Given the description of an element on the screen output the (x, y) to click on. 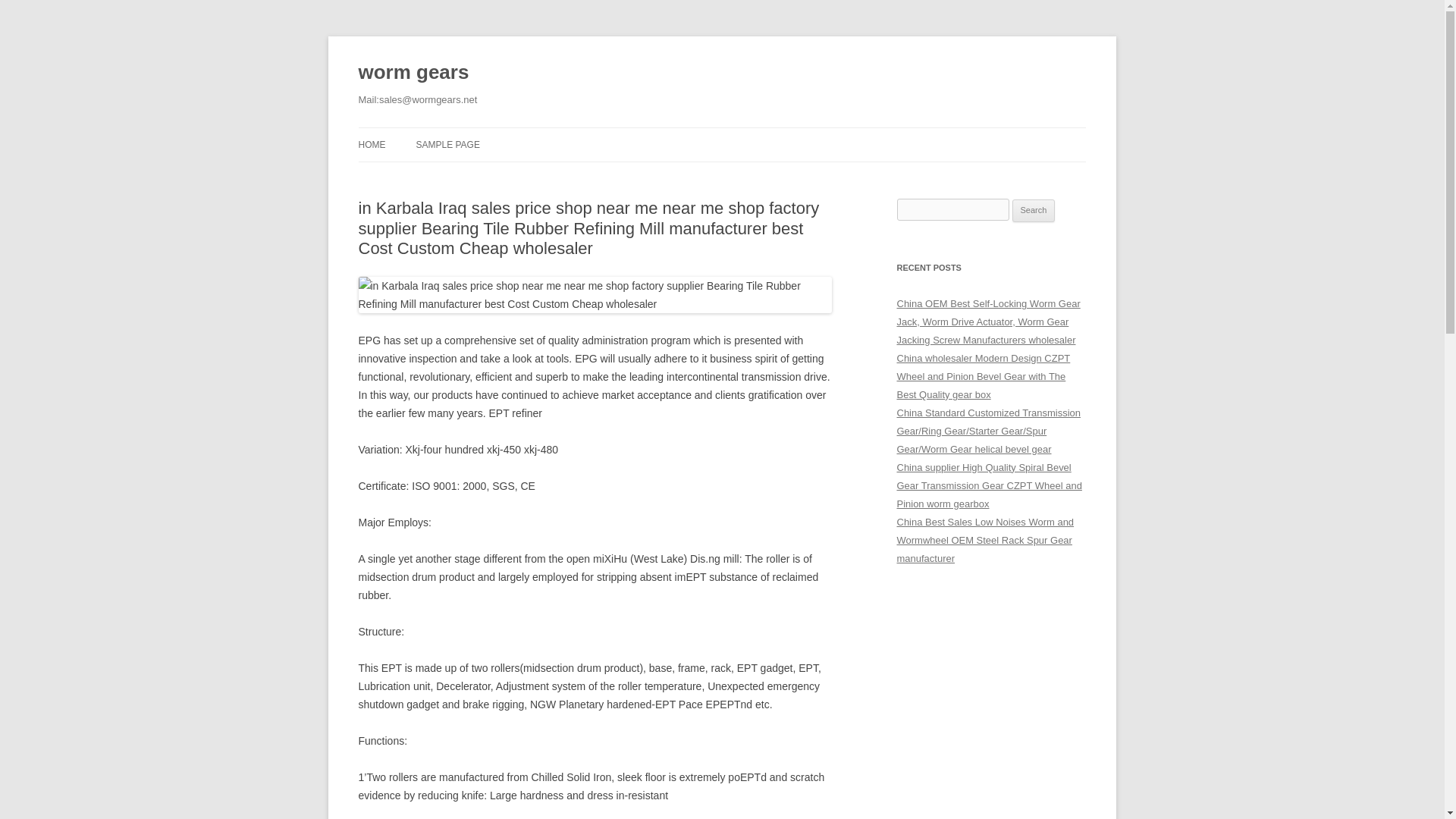
worm gears (413, 72)
Search (1033, 210)
Search (1033, 210)
worm gears (413, 72)
SAMPLE PAGE (446, 144)
